Given the description of an element on the screen output the (x, y) to click on. 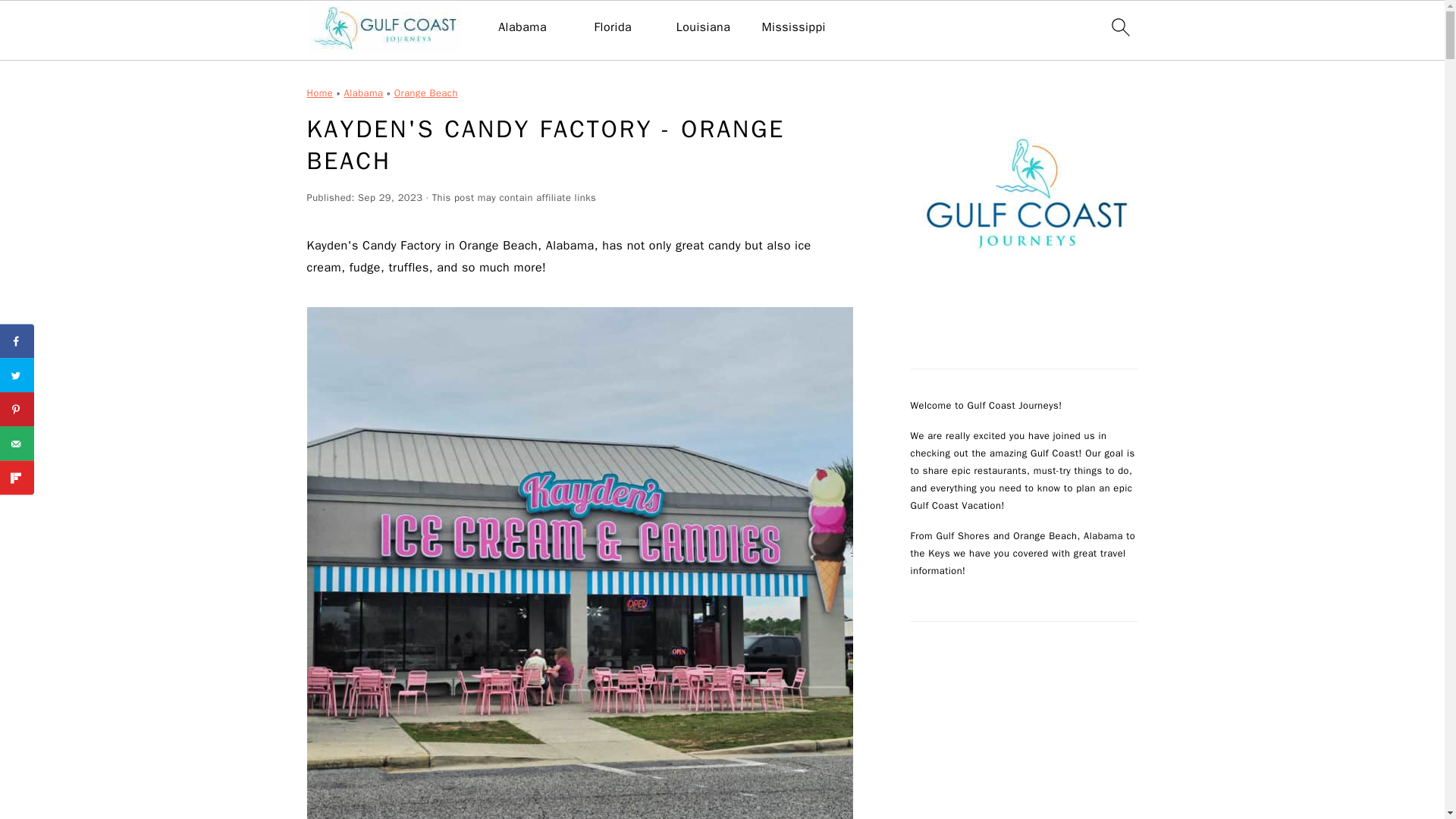
Share on Flipboard (16, 478)
Save to Pinterest (16, 409)
Alabama (522, 27)
Share on Twitter (16, 374)
Florida (612, 27)
Louisiana (703, 27)
Send over email (16, 442)
Home (319, 92)
Orange Beach (426, 92)
